Given the description of an element on the screen output the (x, y) to click on. 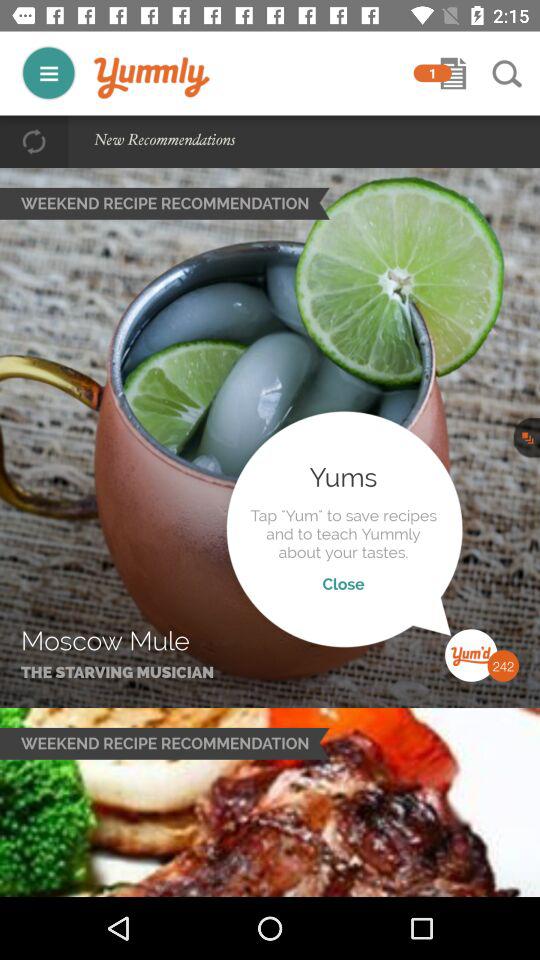
check messages (453, 73)
